Given the description of an element on the screen output the (x, y) to click on. 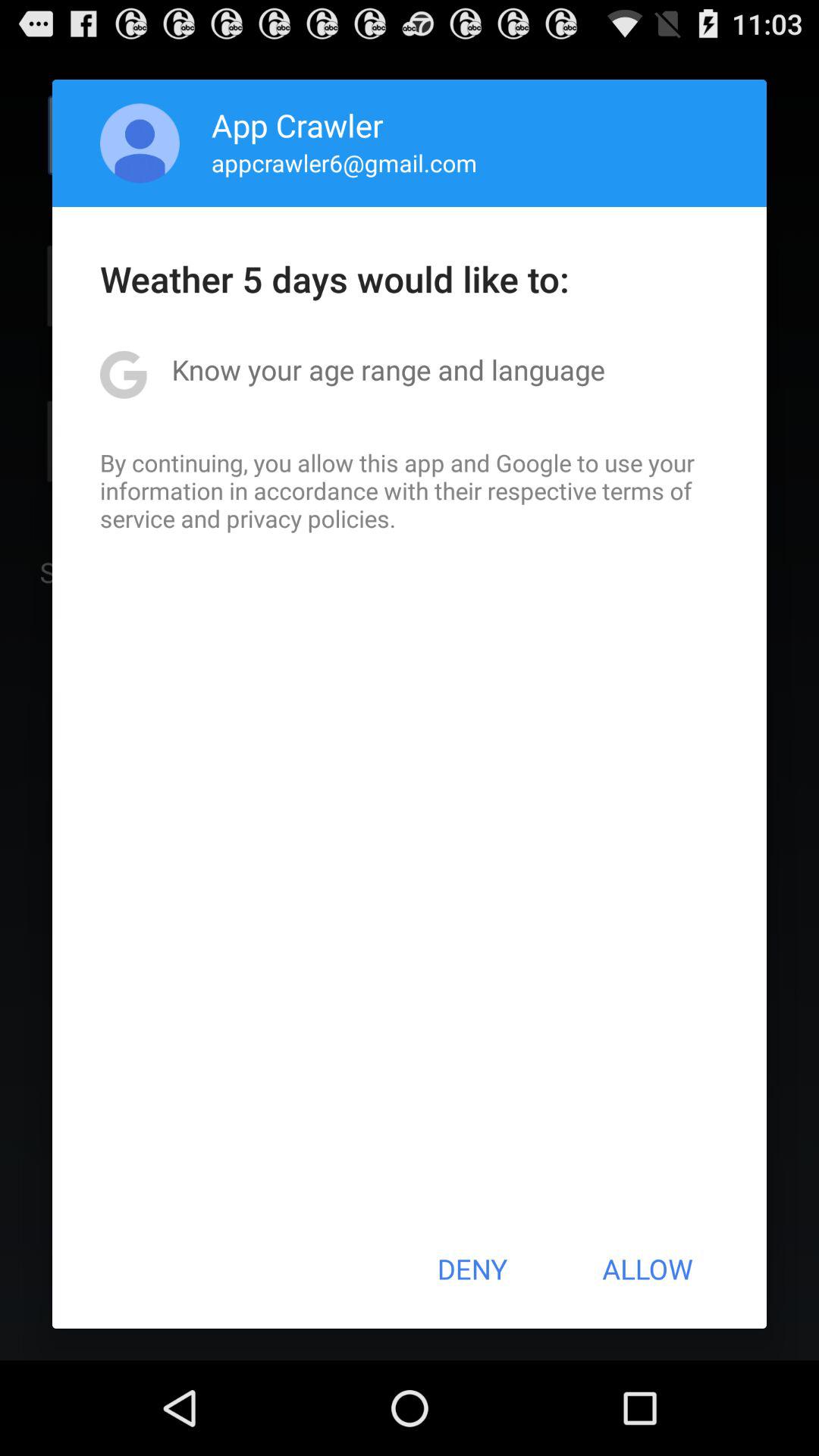
select the item above the weather 5 days (344, 162)
